Given the description of an element on the screen output the (x, y) to click on. 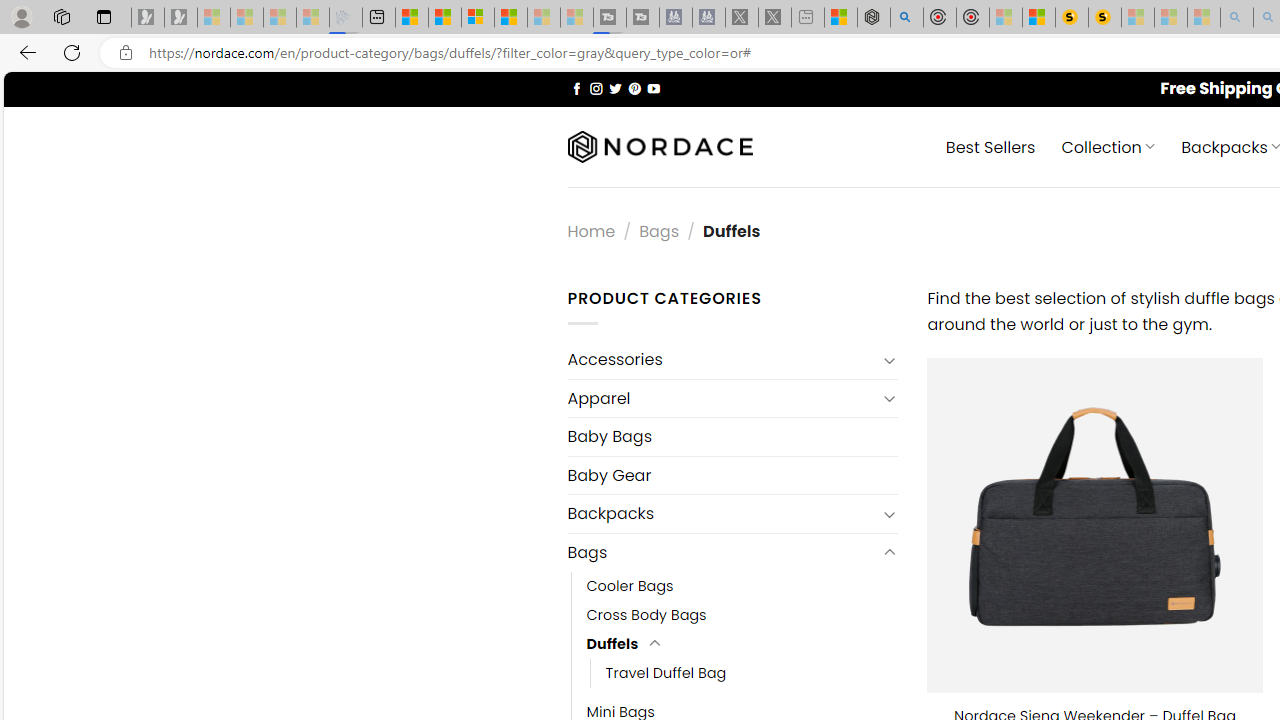
Cooler Bags (630, 585)
Travel Duffel Bag (666, 673)
